Given the description of an element on the screen output the (x, y) to click on. 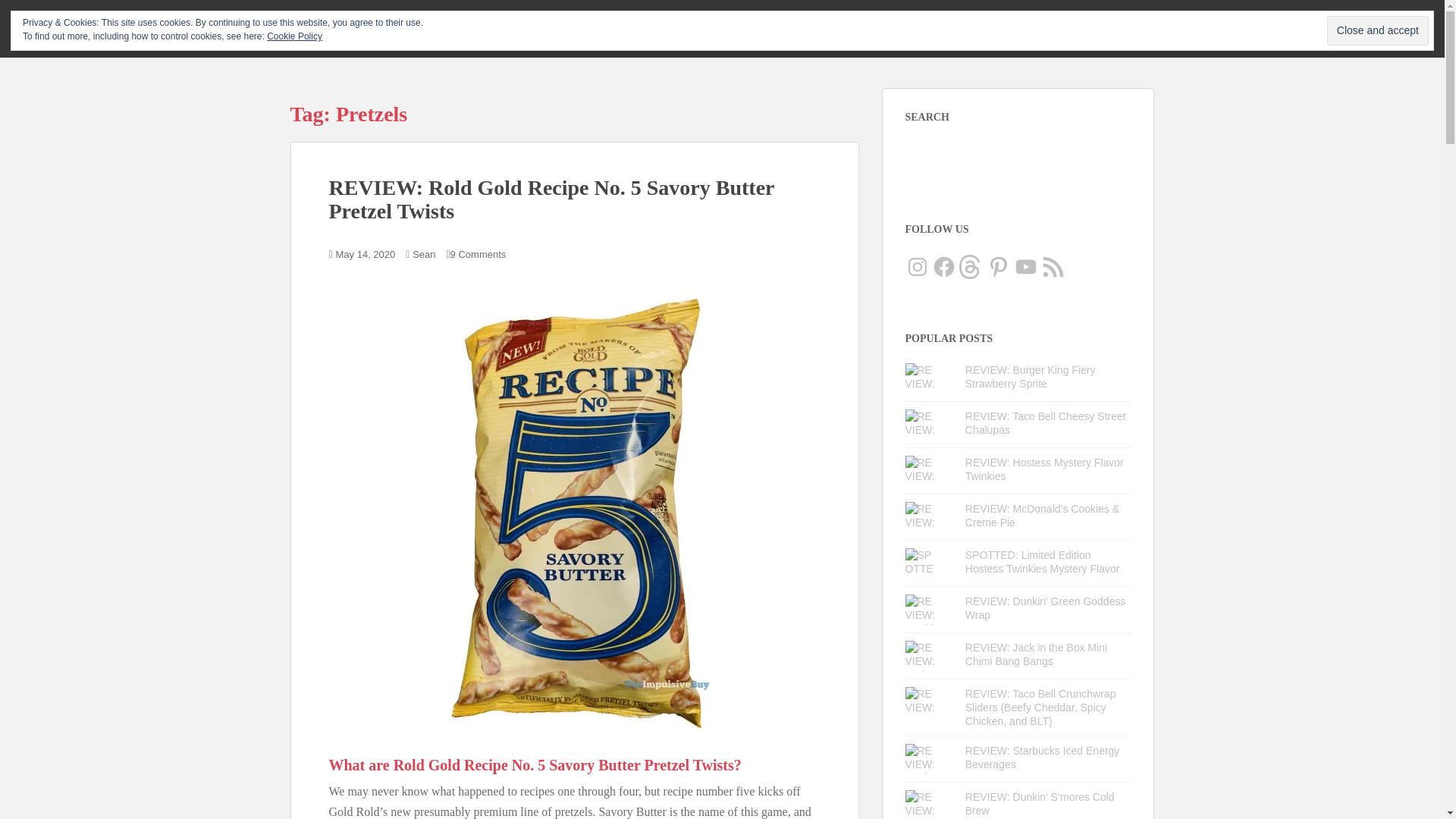
SPOTTED: Limited Edition Hostess Twinkies Mystery Flavor (1042, 561)
Threads (971, 266)
REVIEW: Hostess Mystery Flavor Twinkies (1044, 469)
Pinterest (998, 266)
REVIEW: Burger King Fiery Strawberry Sprite (1030, 376)
ARCHIVES (1050, 26)
RSS Feed (1053, 266)
Close and accept (1377, 30)
REVIEW: Jack in the Box Mini Chimi Bang Bangs (1035, 654)
REVIEW: Rold Gold Recipe No. 5 Savory Butter Pretzel Twists (551, 199)
SEARCH (1113, 26)
FAST FOOD REVIEWS (896, 26)
REVIEW: Taco Bell Cheesy Street Chalupas (1045, 422)
YouTube (1025, 266)
